Given the description of an element on the screen output the (x, y) to click on. 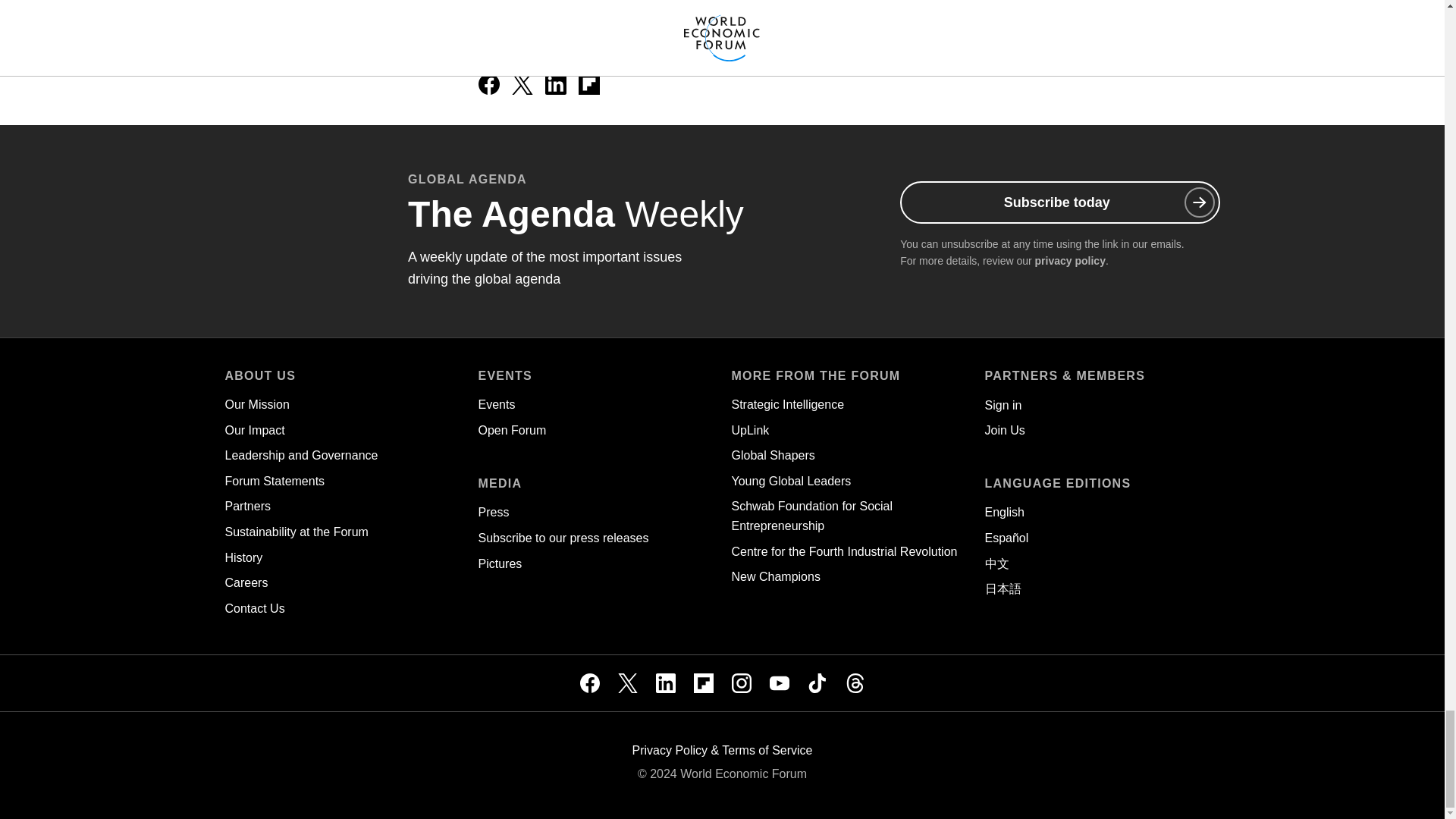
Partners (246, 505)
Our Mission (256, 404)
Contact Us (253, 608)
Careers (245, 582)
Events (496, 404)
privacy policy (1070, 260)
Subscribe today (1059, 201)
Sustainability at the Forum (296, 531)
Forum Statements (274, 481)
Our Impact (253, 430)
